Given the description of an element on the screen output the (x, y) to click on. 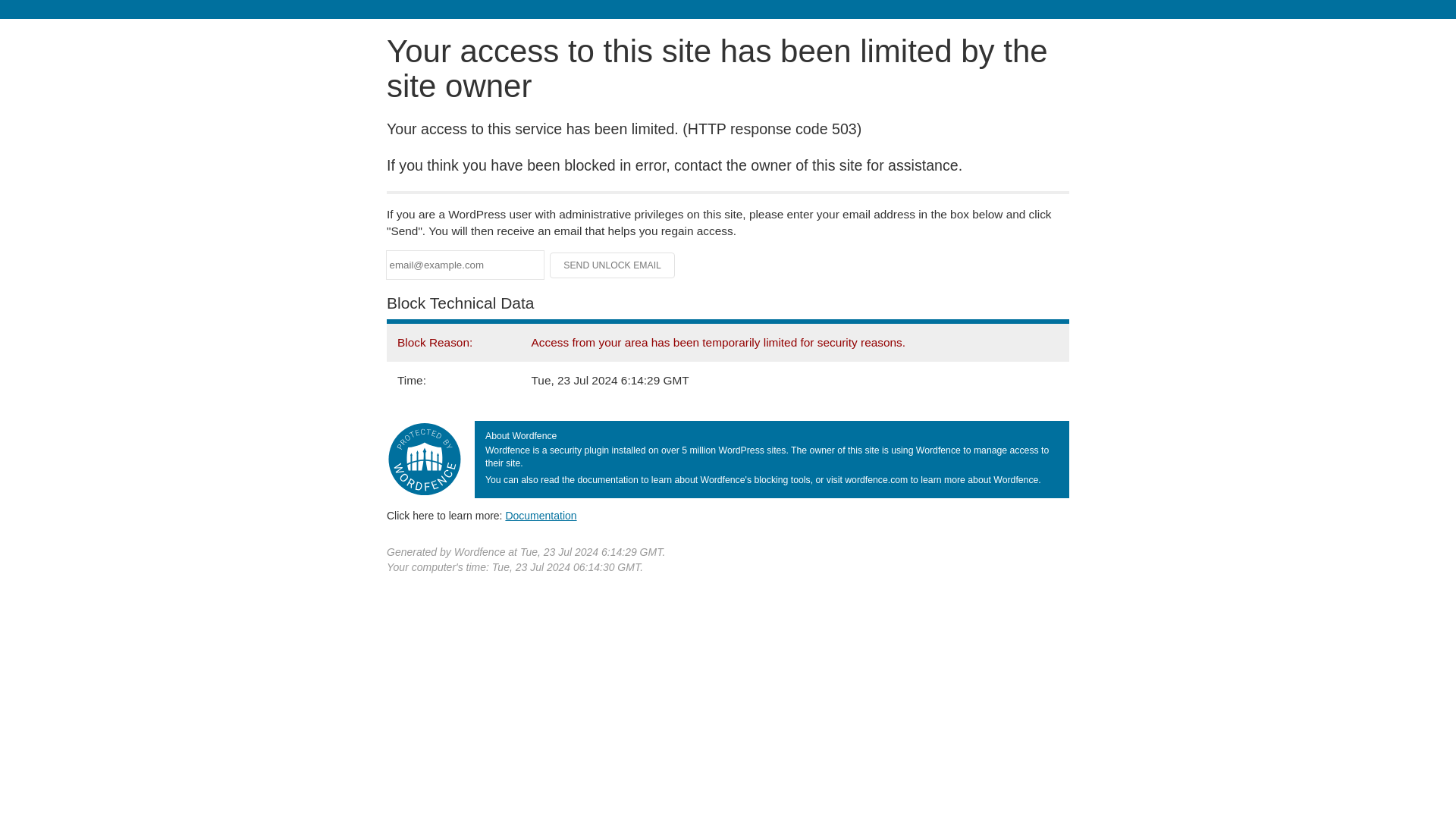
Documentation (540, 515)
Send Unlock Email (612, 265)
Send Unlock Email (612, 265)
